Given the description of an element on the screen output the (x, y) to click on. 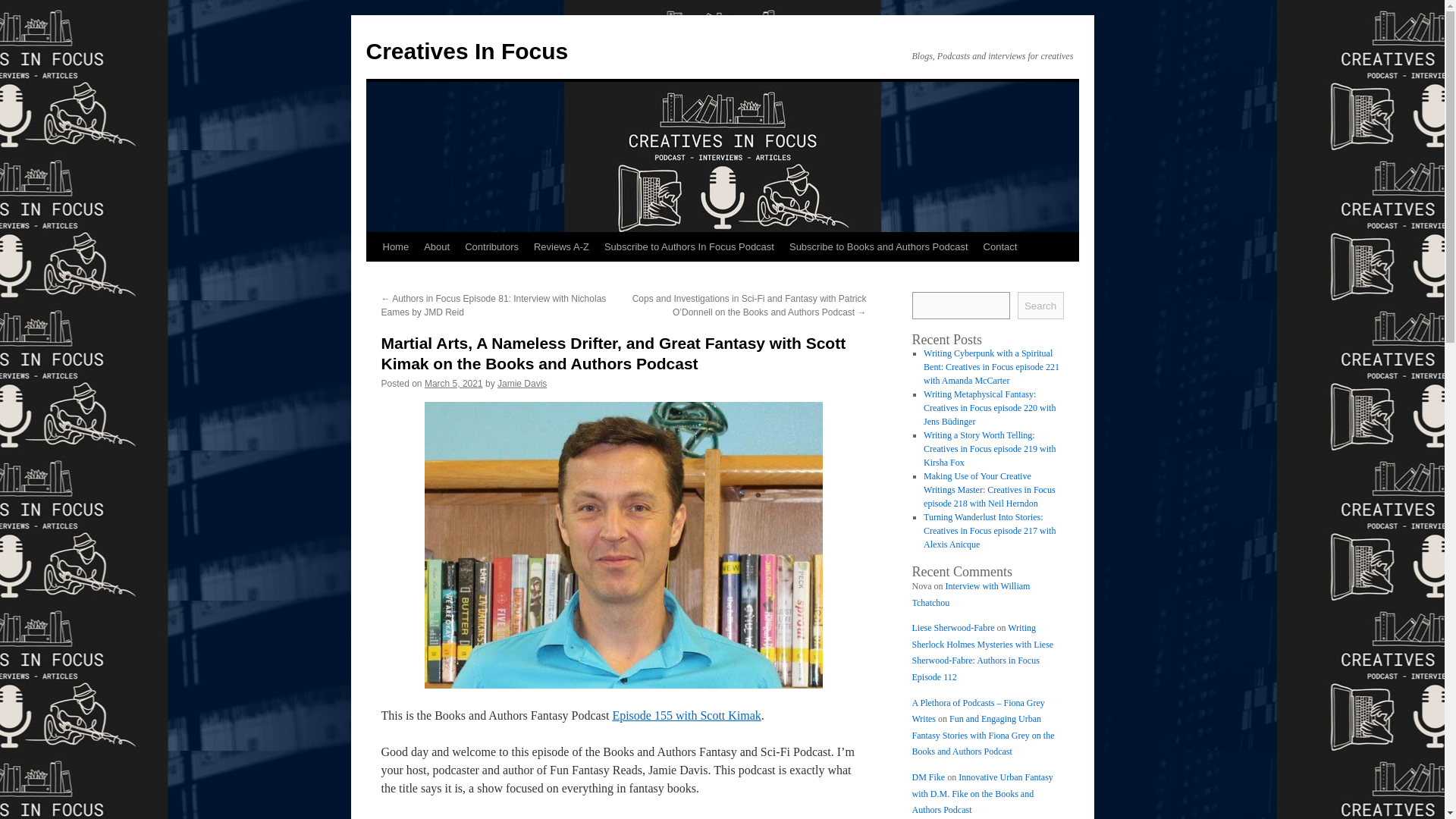
View all posts by Jamie Davis (522, 383)
Subscribe to Authors In Focus Podcast (688, 246)
Episode 155 with Scott Kimak (685, 715)
Jamie Davis (522, 383)
Subscribe to Books and Authors Podcast (878, 246)
Contact (1000, 246)
Reviews A-Z (560, 246)
March 5, 2021 (454, 383)
About (436, 246)
Creatives In Focus (466, 50)
7:06 am (454, 383)
Search (1040, 305)
Home (395, 246)
Contributors (491, 246)
